Given the description of an element on the screen output the (x, y) to click on. 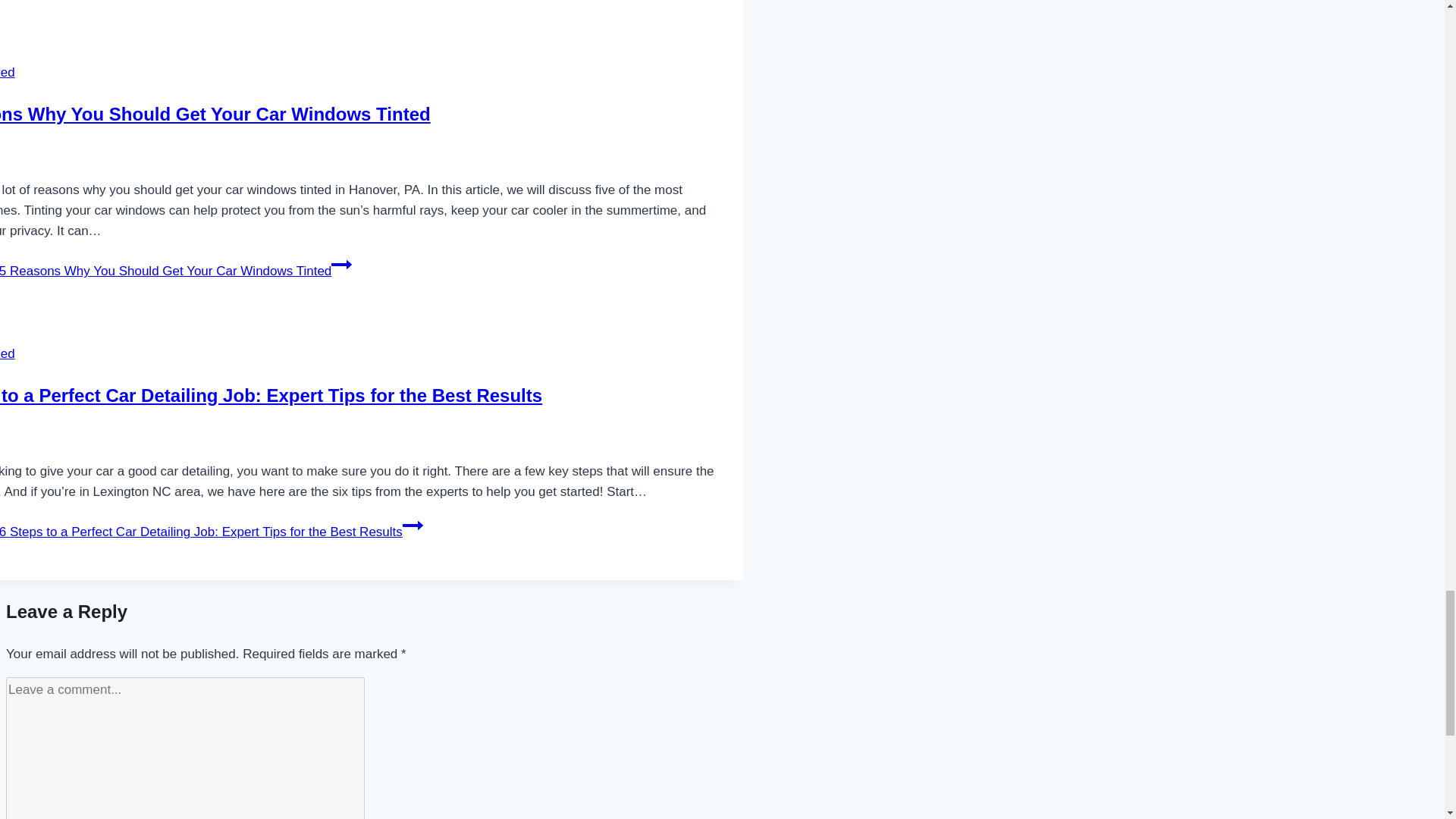
Continue (341, 264)
5 Reasons Why You Should Get Your Car Windows Tinted (215, 114)
Uncategorized (7, 353)
Continue (413, 525)
Uncategorized (7, 72)
